Given the description of an element on the screen output the (x, y) to click on. 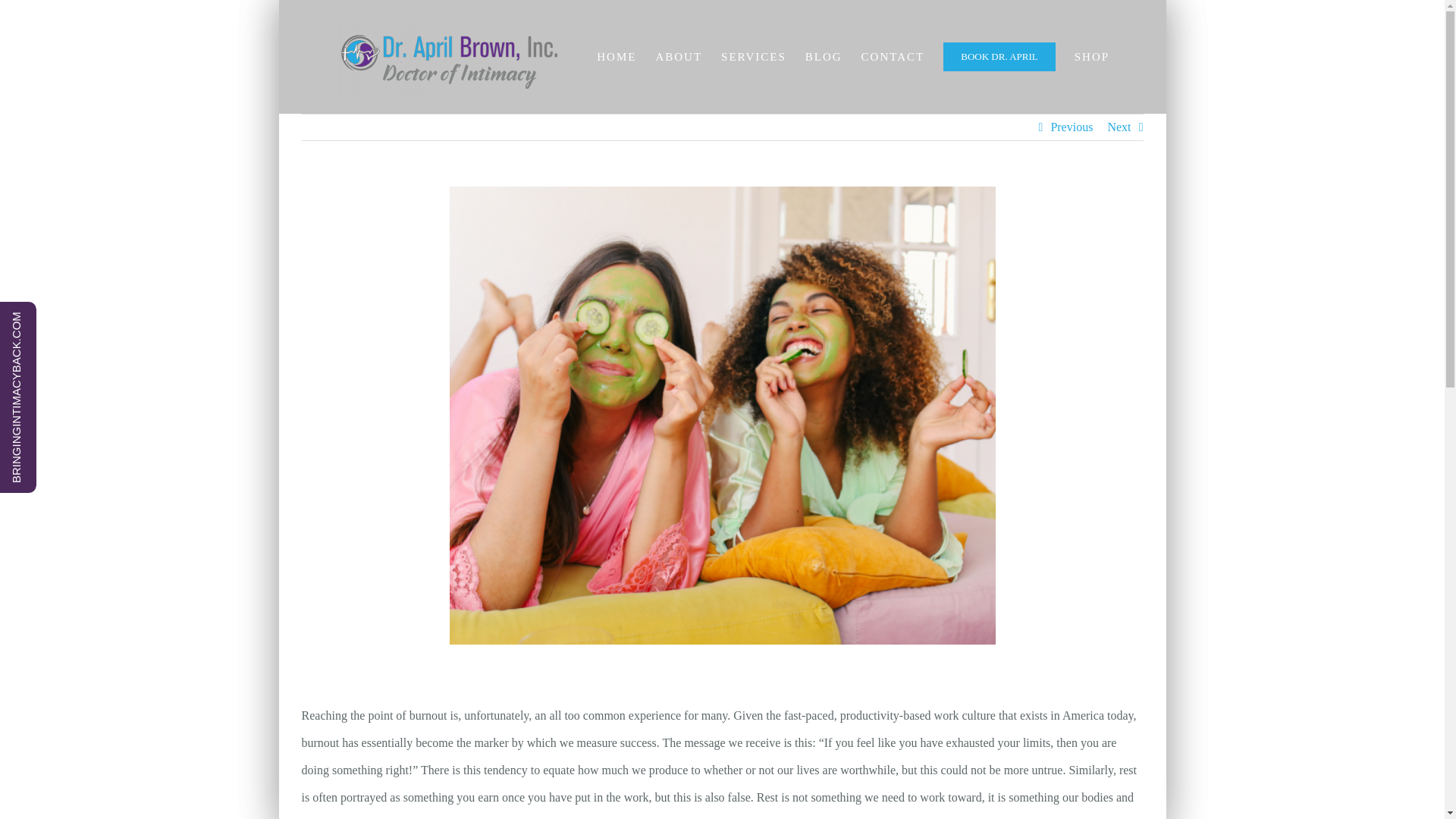
Previous (1071, 127)
BOOK DR. APRIL (999, 56)
Next (1118, 127)
